Given the description of an element on the screen output the (x, y) to click on. 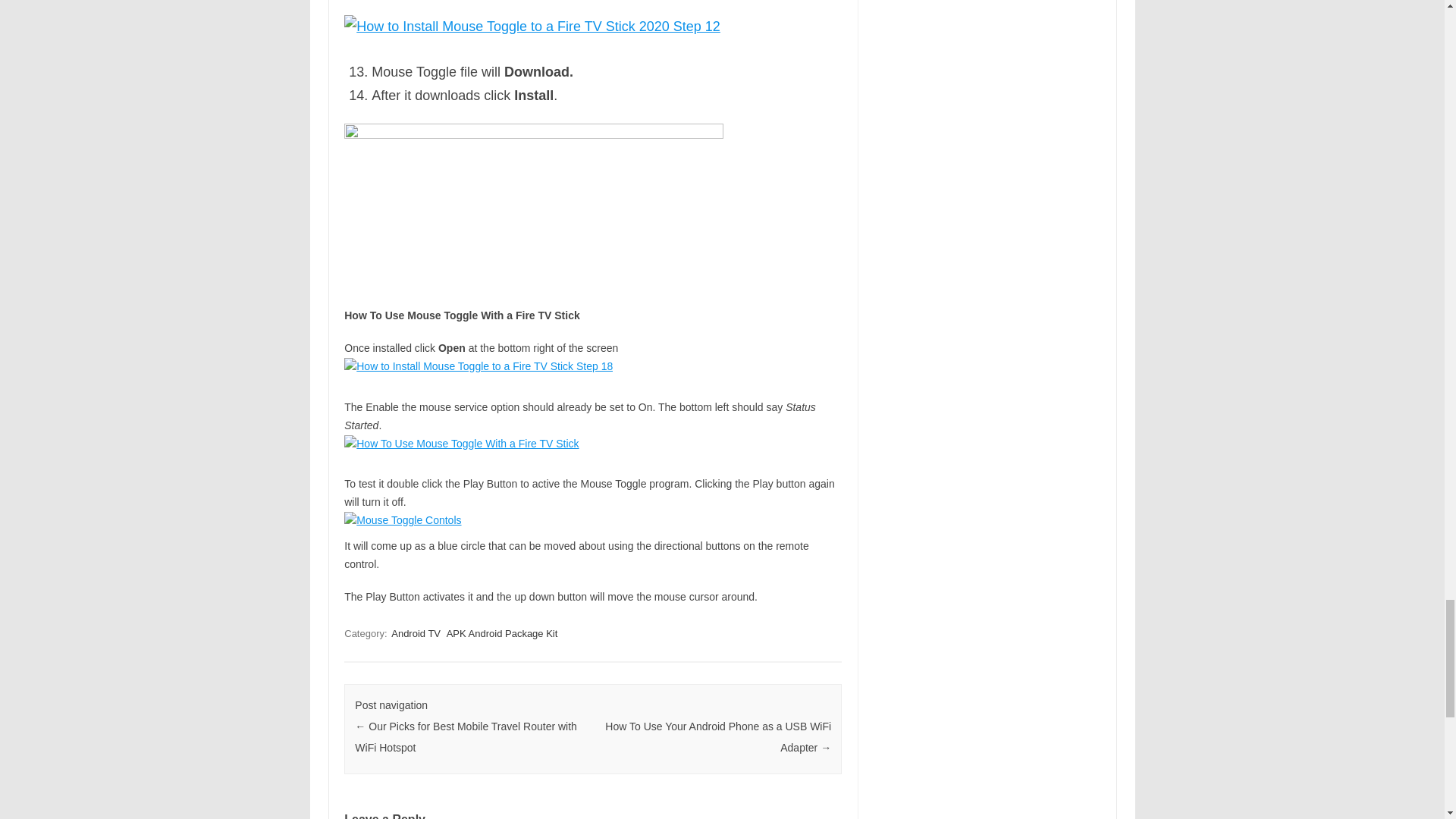
Android TV (416, 633)
APK Android Package Kit (502, 633)
